Given the description of an element on the screen output the (x, y) to click on. 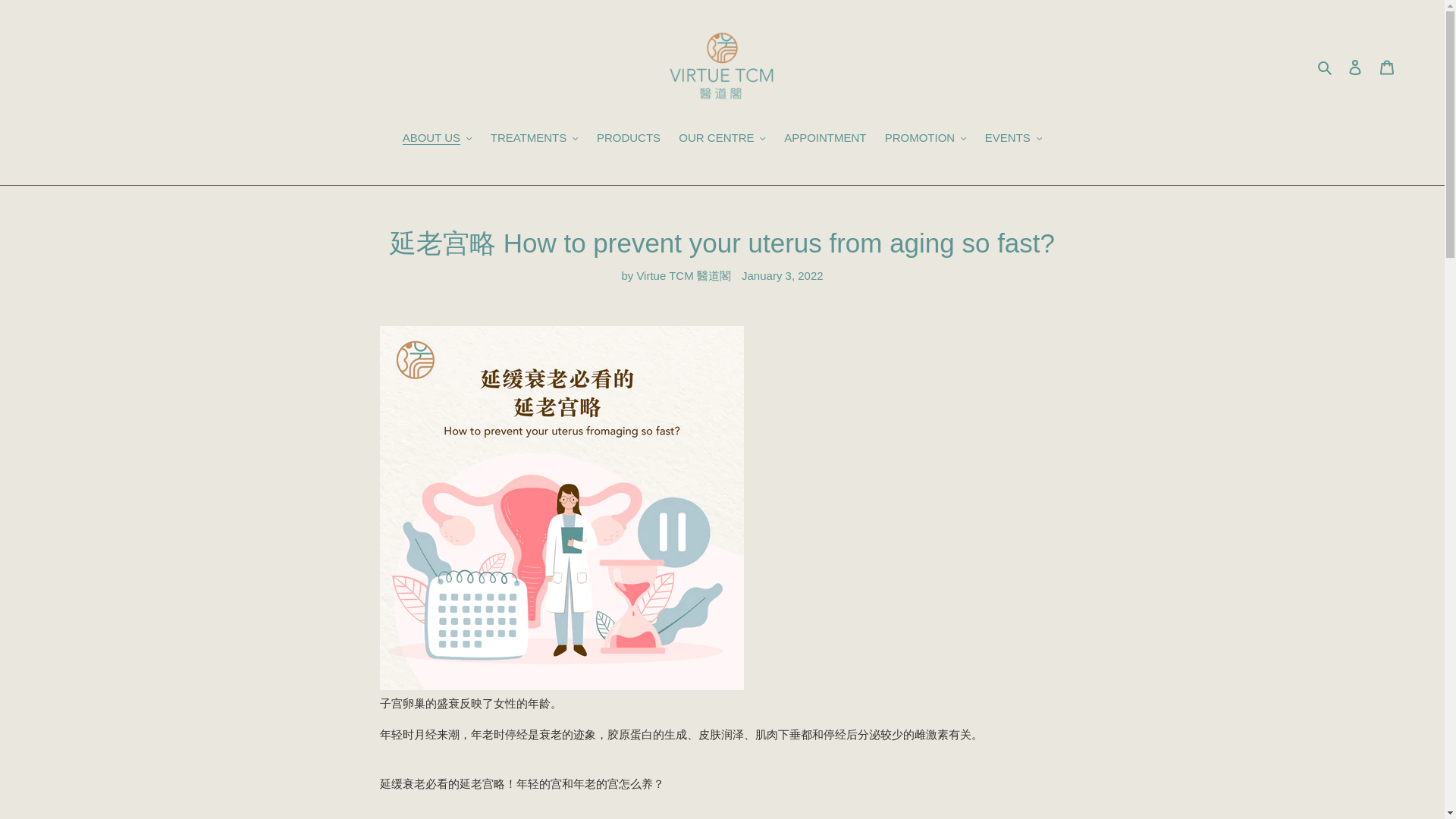
Cart (1387, 66)
Log in (1355, 66)
Search (1326, 66)
